Given the description of an element on the screen output the (x, y) to click on. 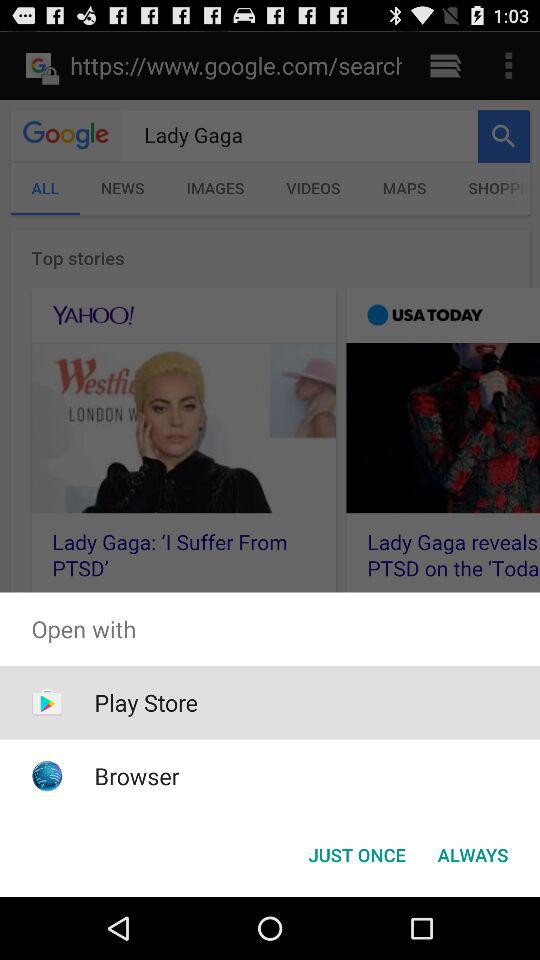
jump to the browser item (136, 775)
